Given the description of an element on the screen output the (x, y) to click on. 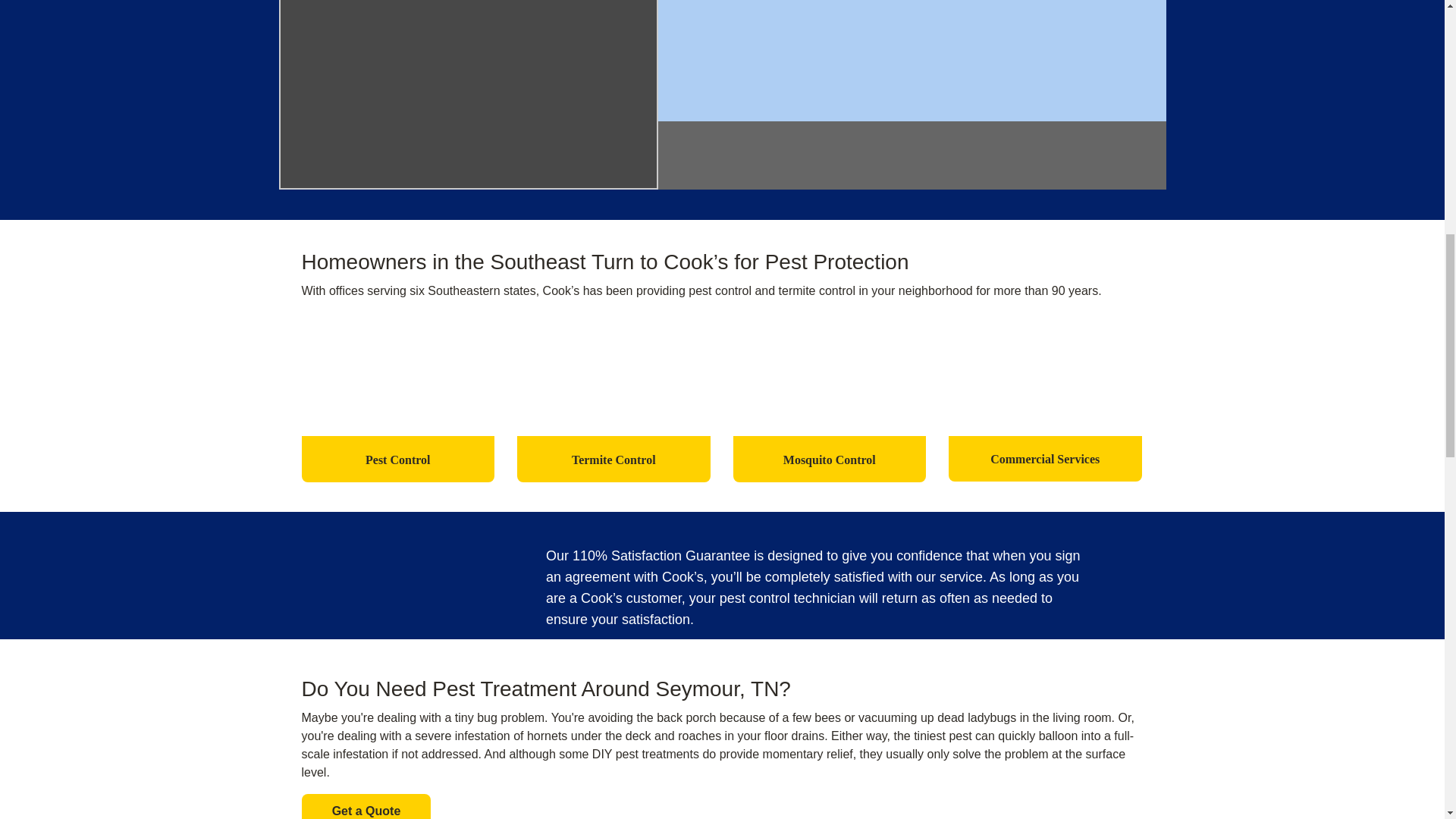
Pest Control (398, 403)
Mosquito Control (829, 403)
Termite Control (613, 403)
Get a Quote (365, 806)
Commercial Services (1045, 403)
